Given the description of an element on the screen output the (x, y) to click on. 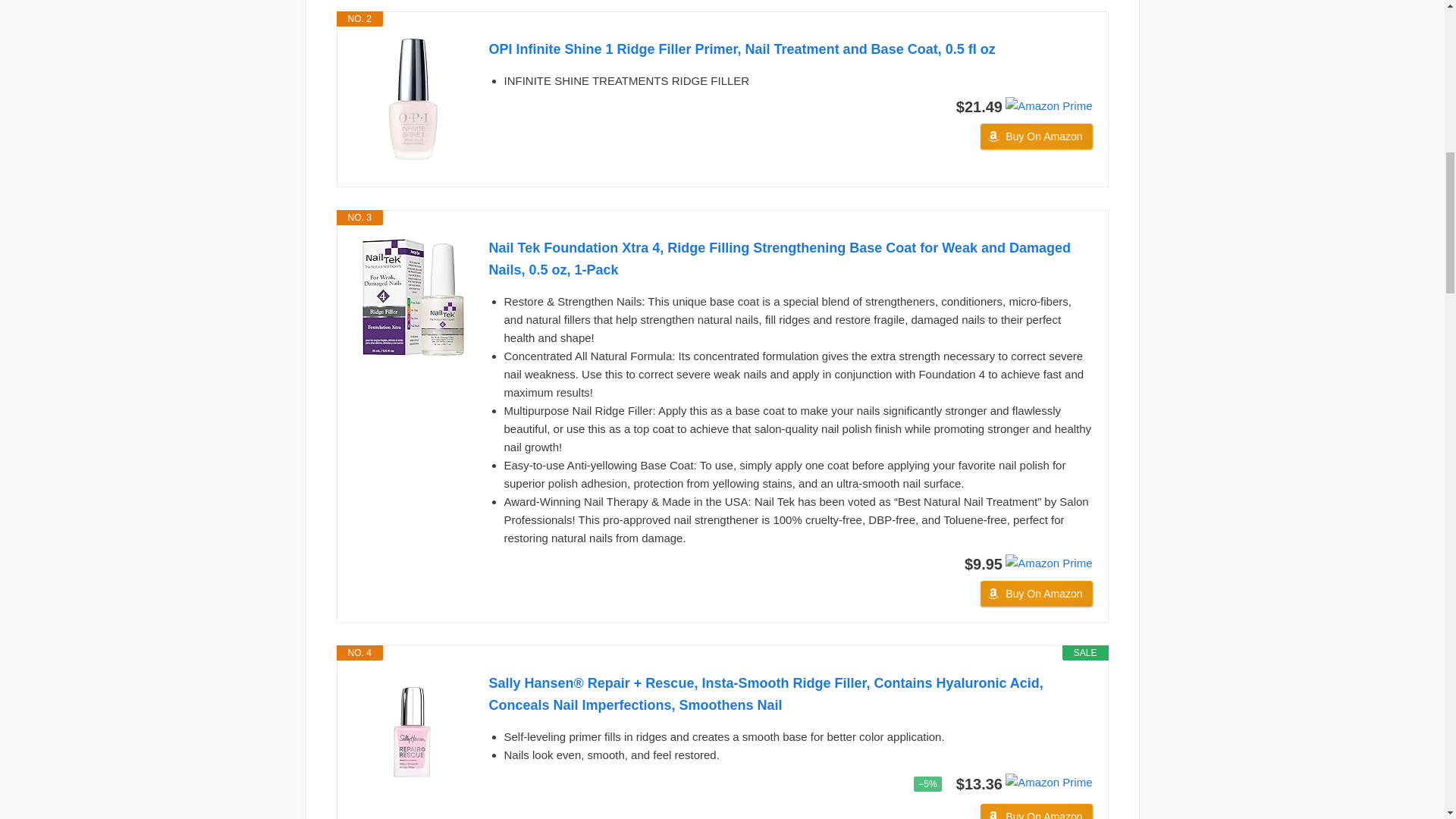
Buy On Amazon (1035, 136)
Buy On Amazon (1035, 136)
Buy On Amazon (1035, 811)
Buy On Amazon (1035, 593)
Amazon Prime (1049, 105)
The Best Nail Ridge Filler 3 (1049, 106)
Amazon Prime (1049, 562)
